Given the description of an element on the screen output the (x, y) to click on. 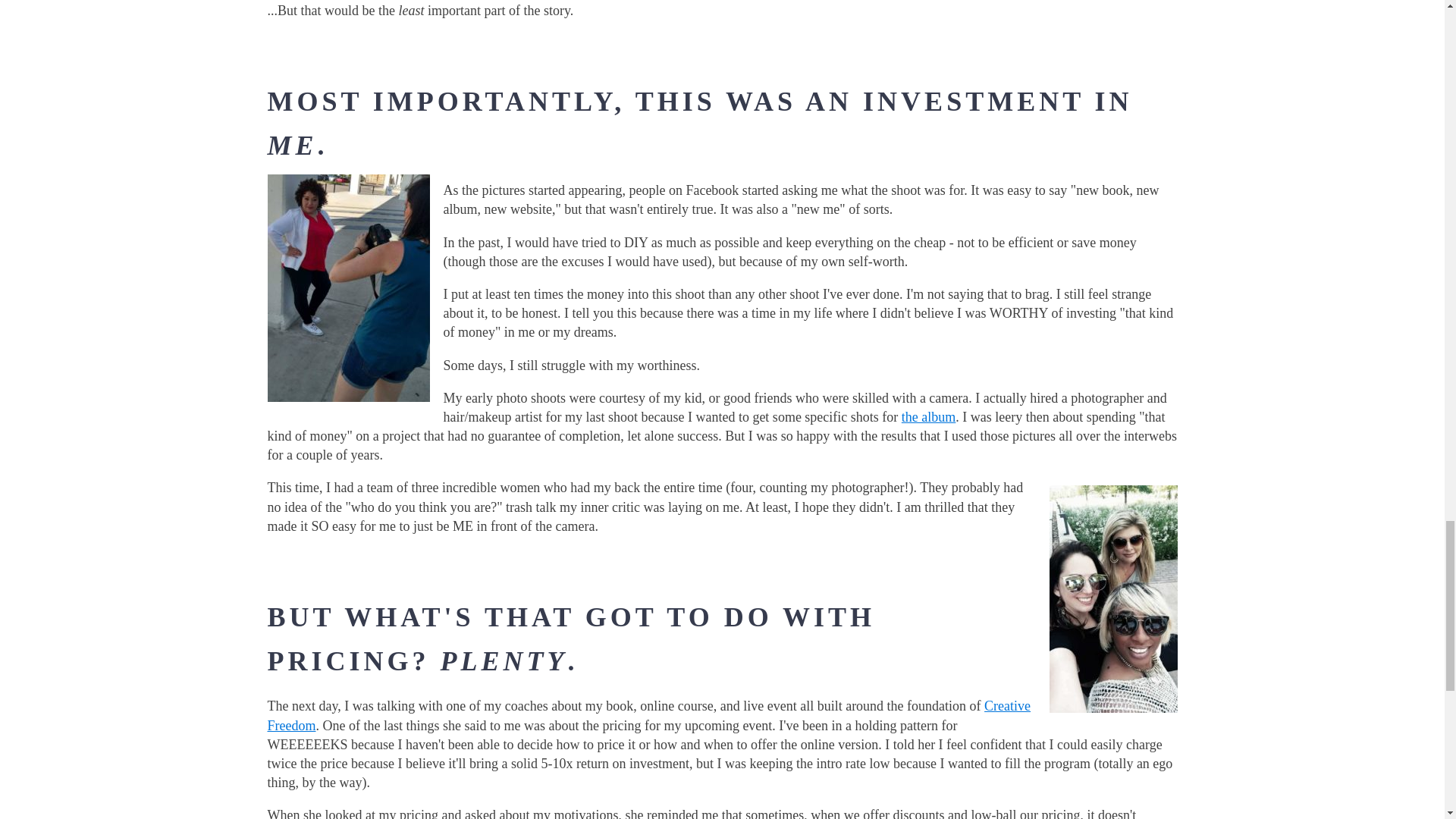
Creative Freedom (648, 715)
the album (928, 417)
